Given the description of an element on the screen output the (x, y) to click on. 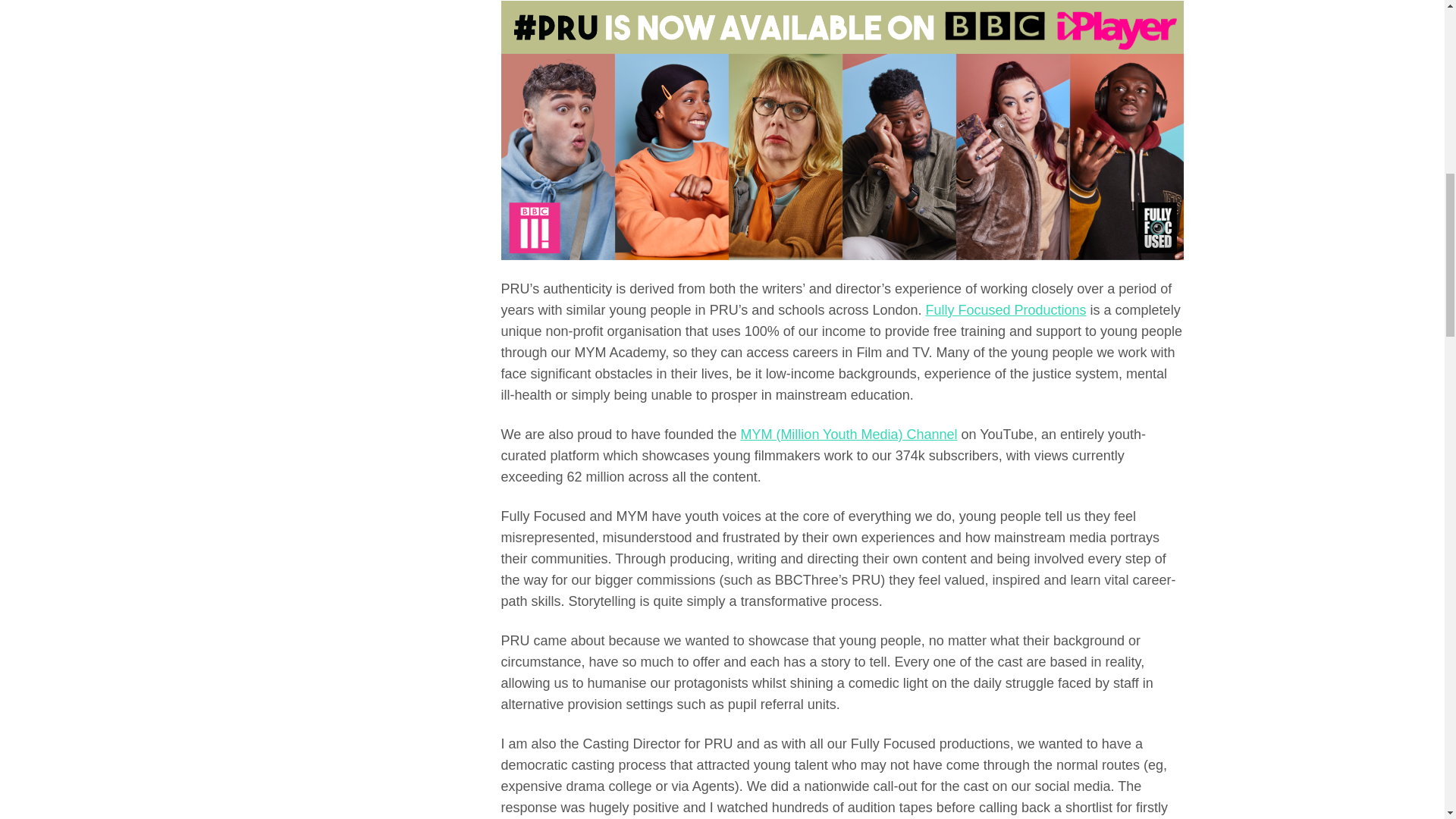
Fully Focused Productions (1005, 309)
